Given the description of an element on the screen output the (x, y) to click on. 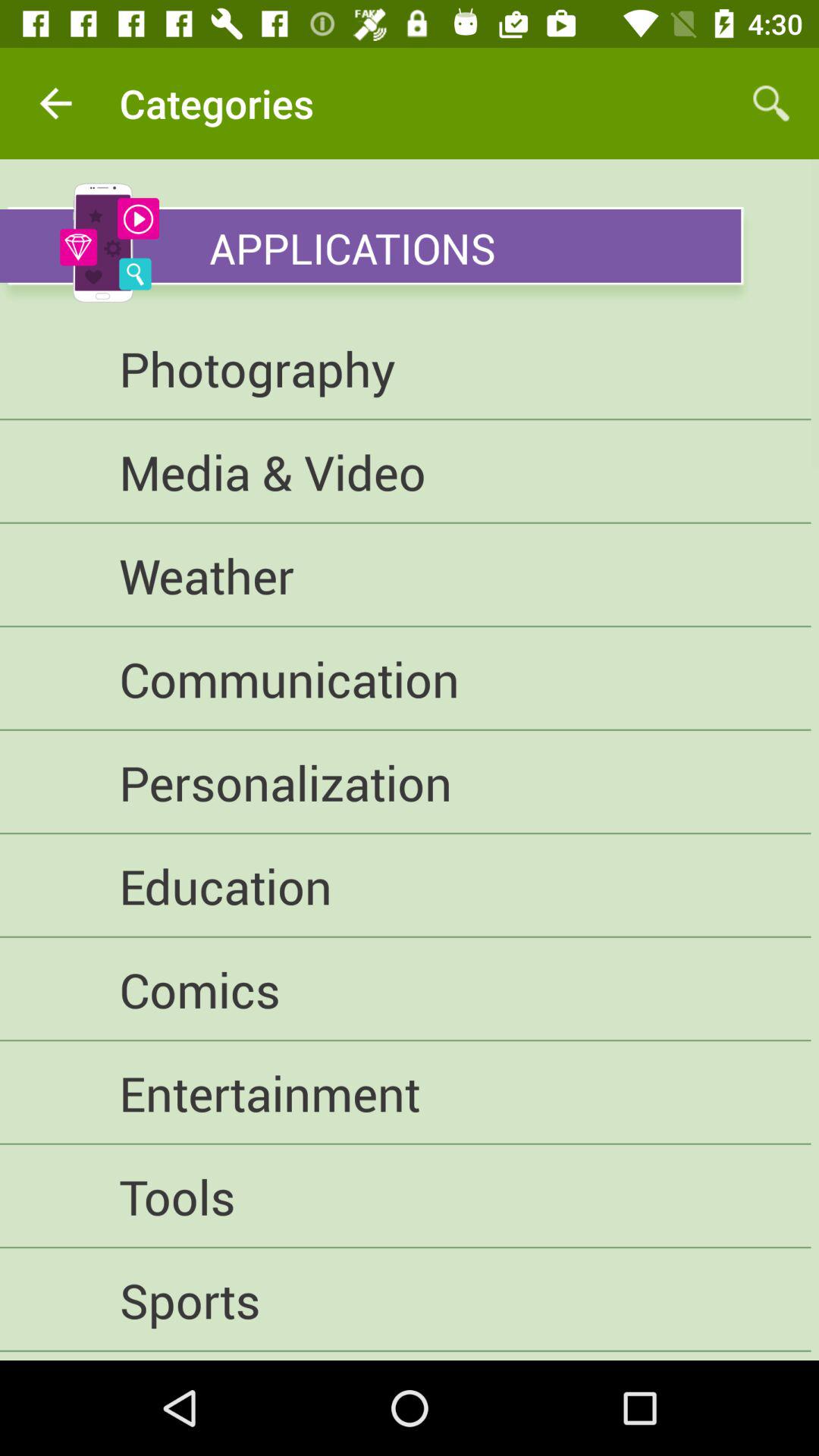
turn on the icon below entertainment (405, 1196)
